Given the description of an element on the screen output the (x, y) to click on. 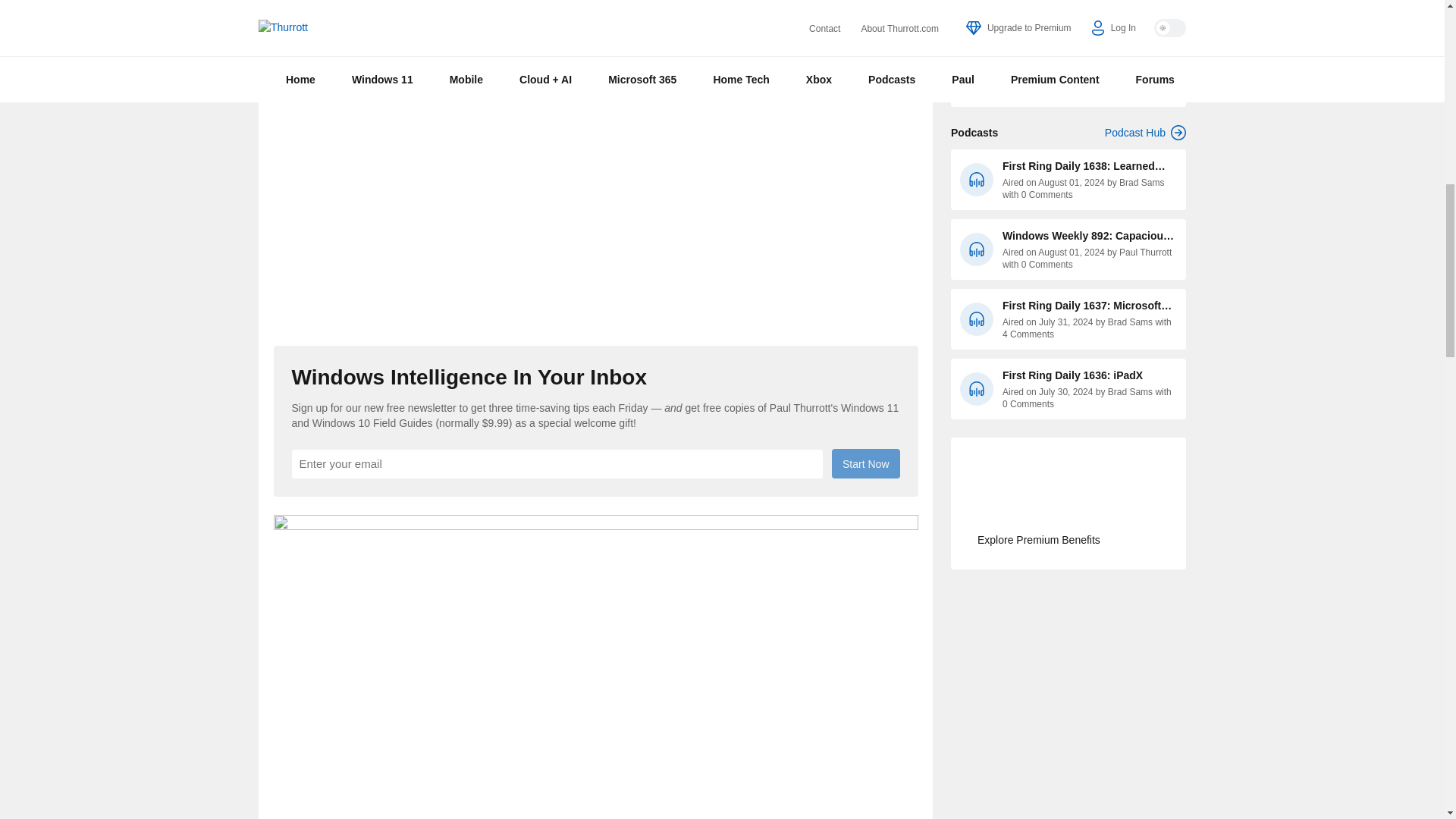
Start Now (865, 463)
